Given the description of an element on the screen output the (x, y) to click on. 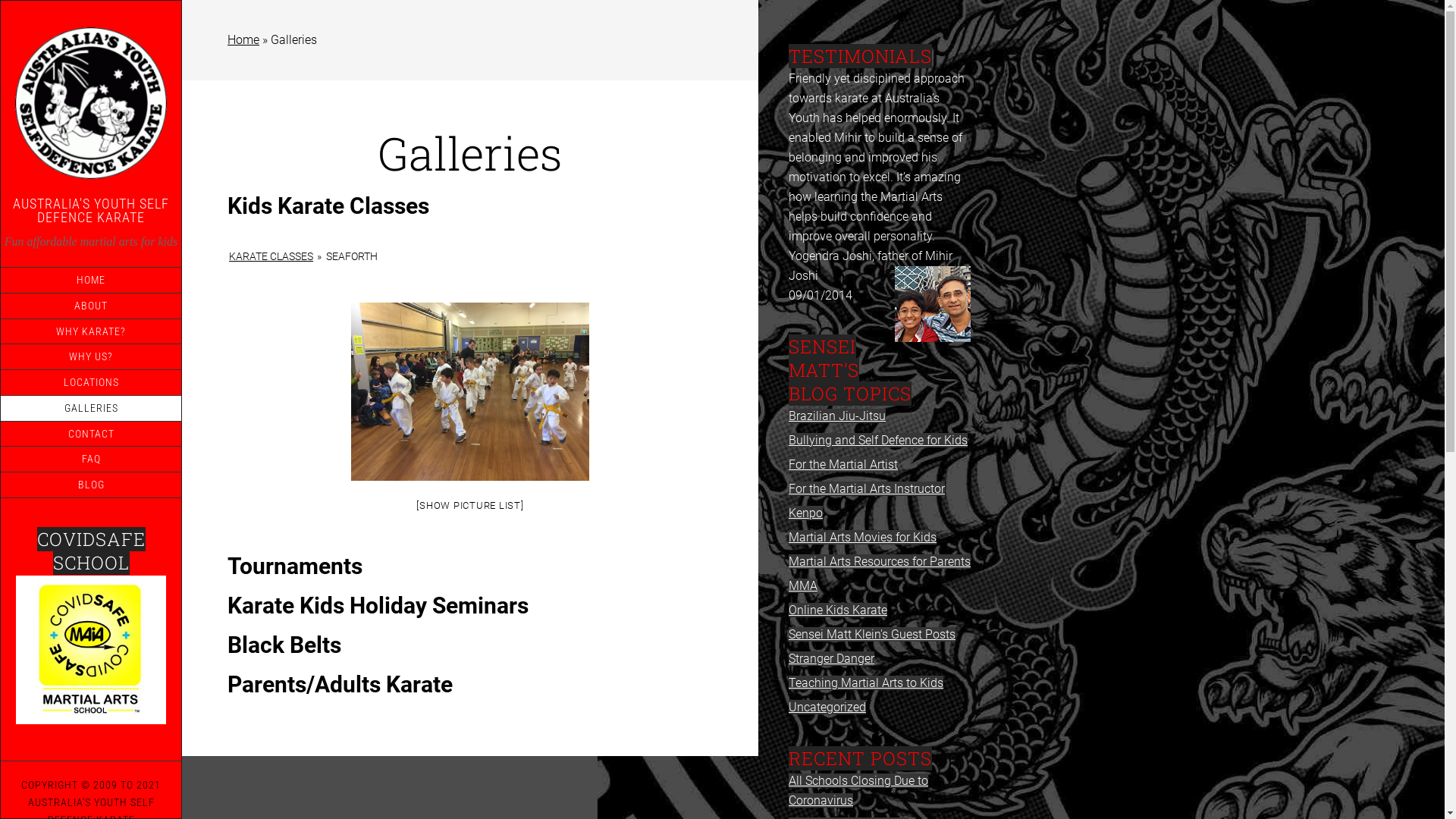
HOME Element type: text (90, 279)
GALLERIES Element type: text (90, 407)
active kids Element type: hover (90, 649)
LOCATIONS Element type: text (90, 382)
Uncategorized Element type: text (827, 706)
BLOG Element type: text (90, 484)
CONTACT Element type: text (90, 433)
AUSTRALIA'S YOUTH SELF DEFENCE KARATE Element type: text (90, 210)
MMA Element type: text (802, 585)
Sensei Matt Klein's Guest Posts Element type: text (871, 634)
Kenpo Element type: text (805, 512)
Stranger Danger Element type: text (831, 658)
WHY KARATE? Element type: text (90, 330)
For the Martial Arts Instructor Element type: text (866, 488)
[SHOW PICTURE LIST] Element type: text (469, 505)
FAQ Element type: text (90, 458)
Home Element type: text (243, 39)
Brazilian Jiu-Jitsu Element type: text (836, 415)
WHY US? Element type: text (90, 356)
Teaching Martial Arts to Kids Element type: text (865, 682)
Online Kids Karate Element type: text (837, 609)
For the Martial Artist Element type: text (842, 464)
KARATE CLASSES Element type: text (271, 256)
All Schools Closing Due to Coronavirus Element type: text (858, 790)
Martial Arts Resources for Parents Element type: text (879, 561)
Martial Arts Movies for Kids Element type: text (862, 537)
Bullying and Self Defence for Kids Element type: text (877, 440)
ABOUT Element type: text (90, 305)
